Given the description of an element on the screen output the (x, y) to click on. 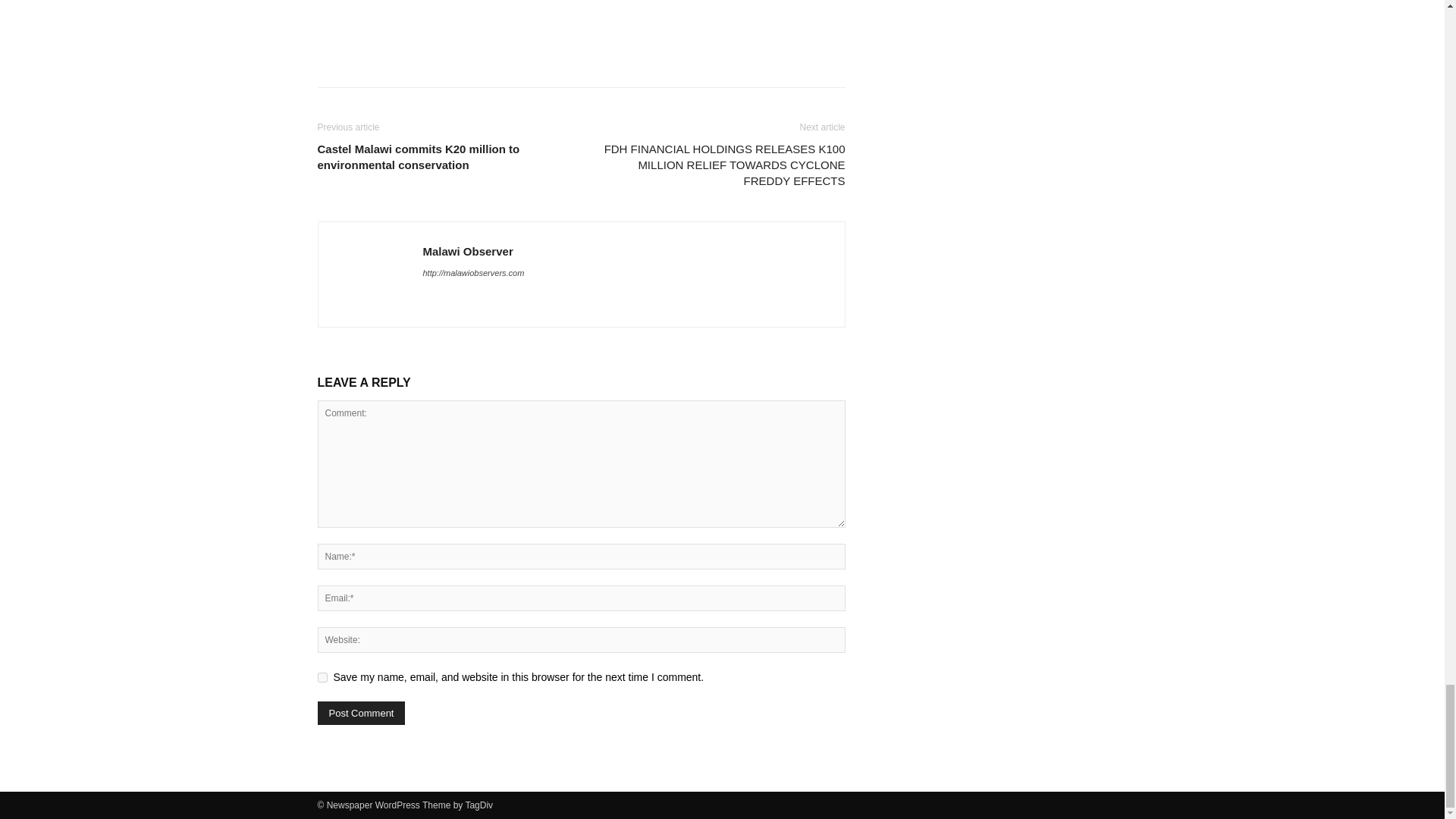
bottomFacebookLike (430, 22)
Post Comment (360, 712)
yes (321, 677)
